Given the description of an element on the screen output the (x, y) to click on. 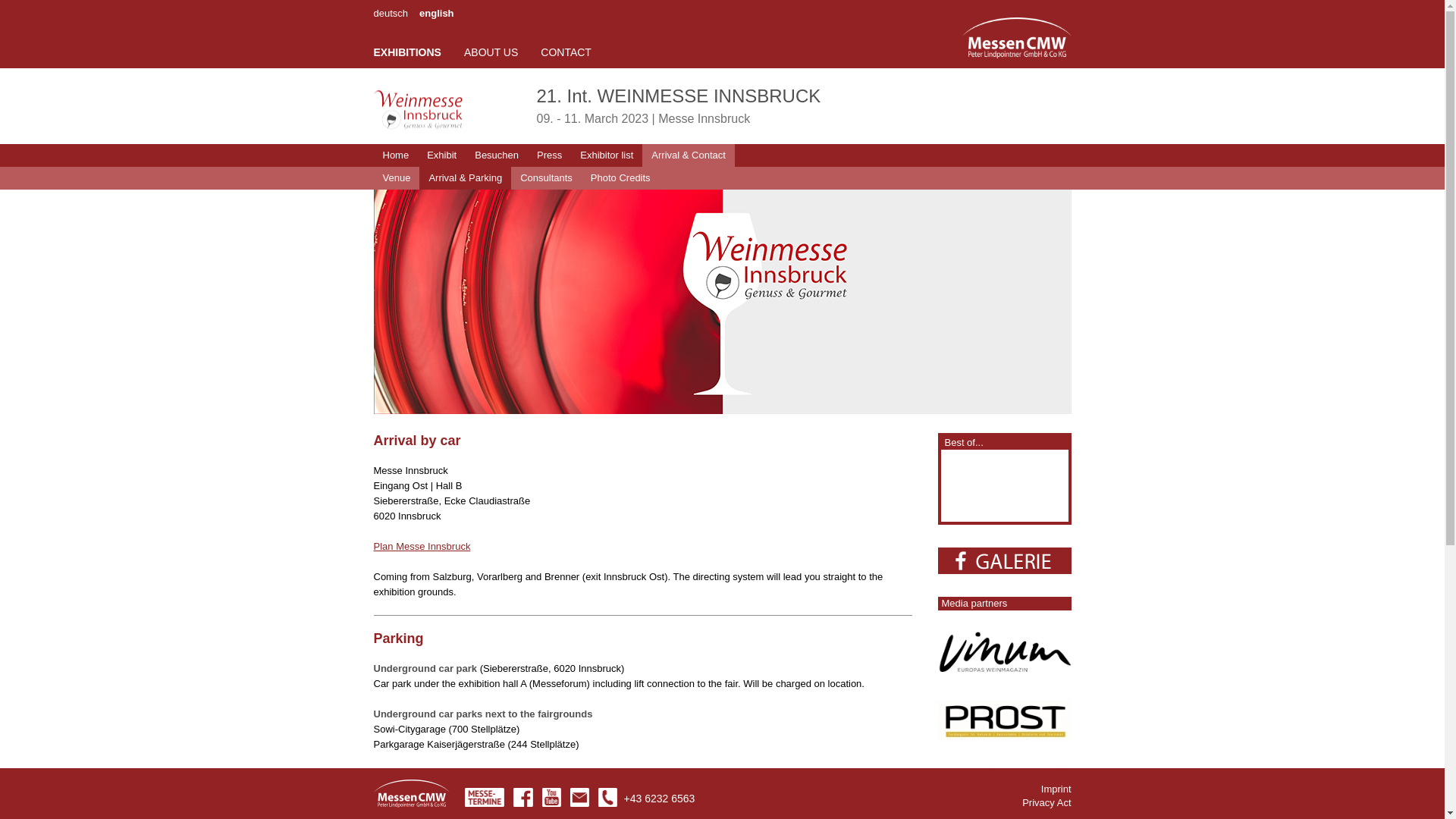
Venue (395, 178)
Plan Messe Innsbruck (421, 546)
Consultants (545, 178)
Home (394, 155)
Photo Credits (619, 178)
ABOUT US (491, 51)
Privacy Act (1046, 802)
english (436, 12)
Besuchen (496, 155)
Press (548, 155)
EXHIBITIONS (406, 51)
deutsch (389, 12)
CONTACT (565, 51)
Exhibit (441, 155)
Imprint (1056, 788)
